Given the description of an element on the screen output the (x, y) to click on. 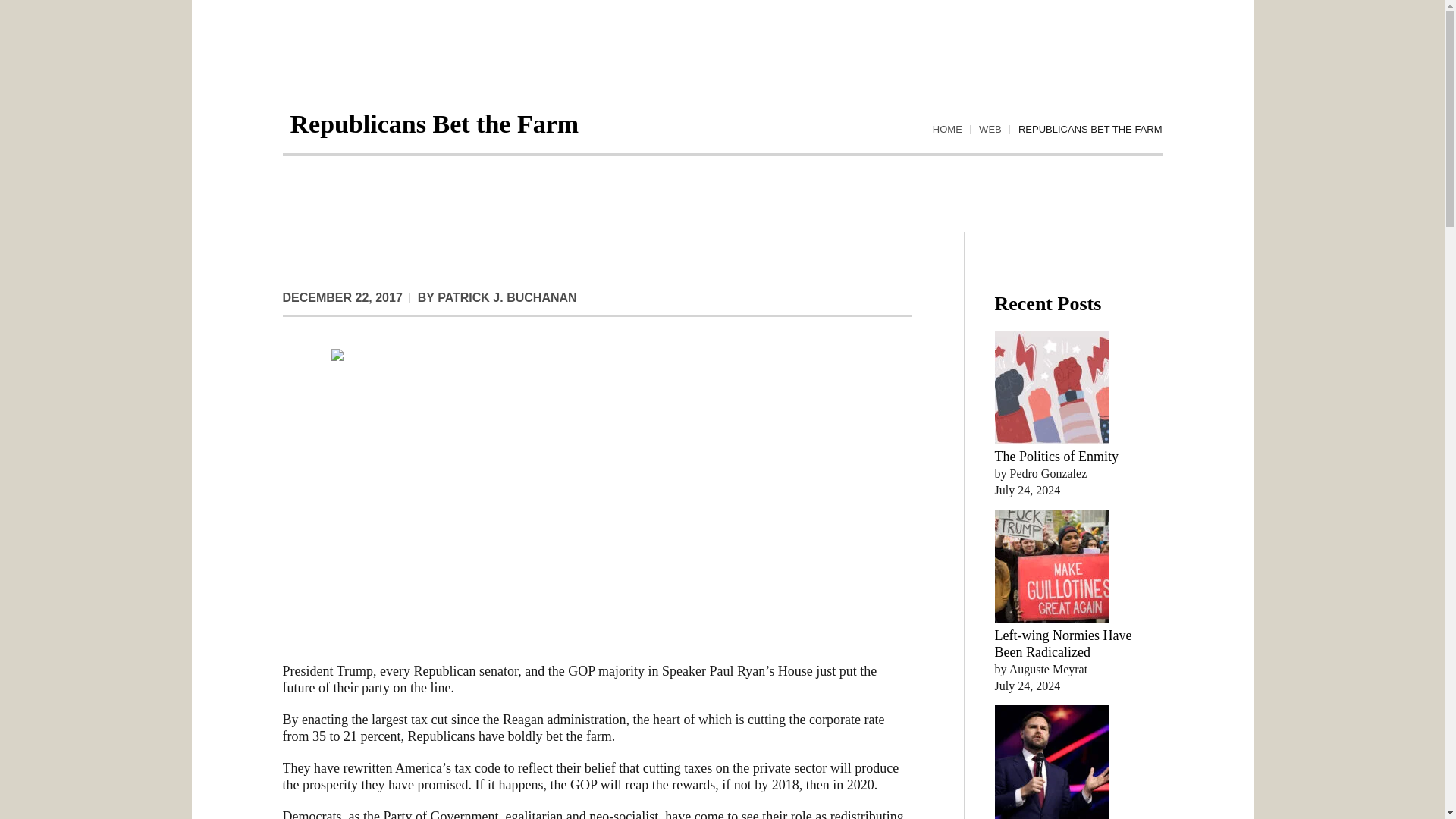
WEB (989, 129)
December 22, 2017 (341, 297)
HOME (947, 129)
Left-wing Normies Have Been Radicalized (1063, 644)
The Politics of Enmity (1056, 456)
PATRICK J. BUCHANAN (507, 297)
Posts by Patrick J. Buchanan (507, 297)
